Given the description of an element on the screen output the (x, y) to click on. 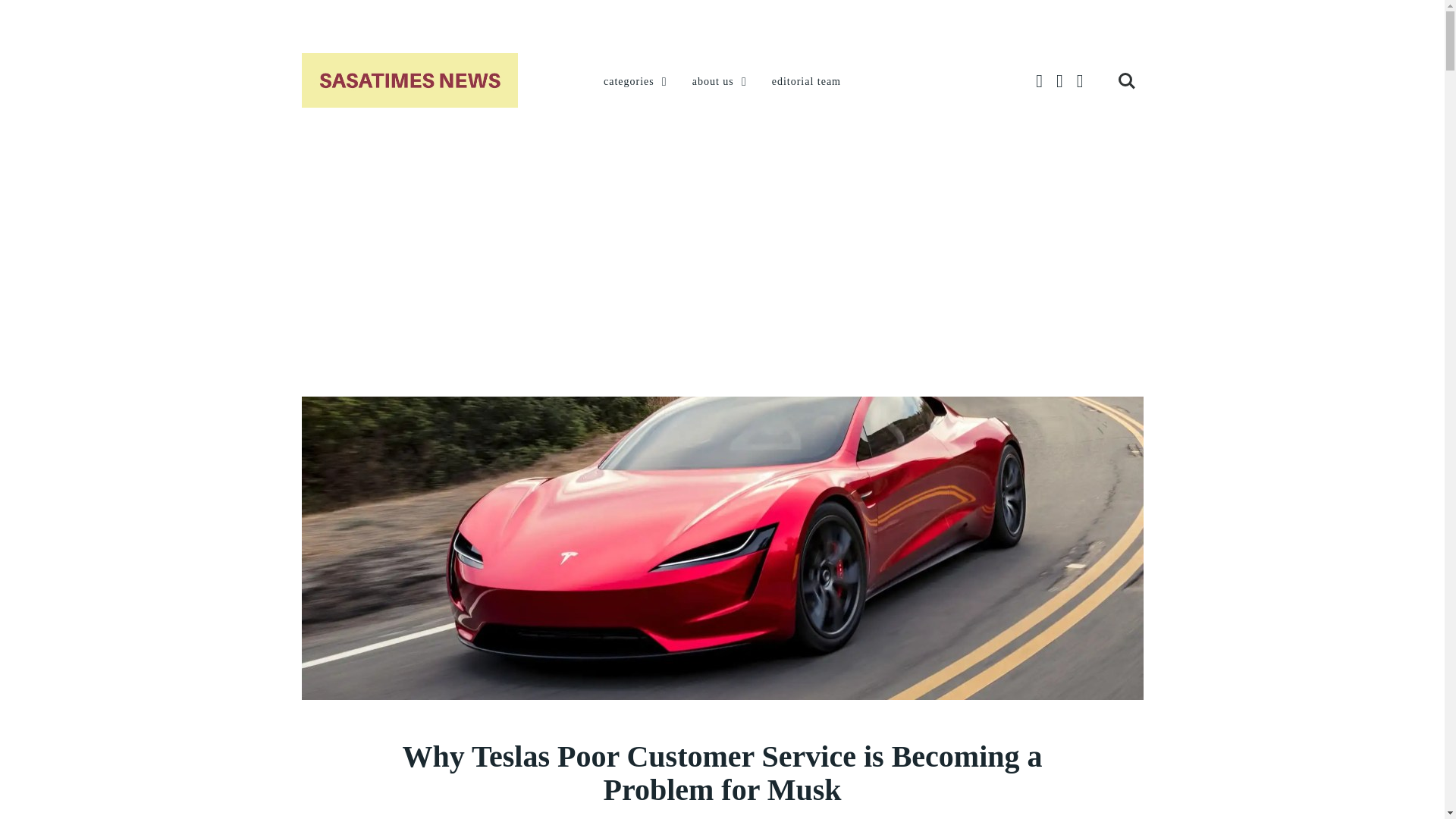
Facebook (1038, 81)
Twitter (1059, 81)
editorial team (806, 81)
categories (636, 81)
about us (721, 81)
Instagram (1080, 81)
